Given the description of an element on the screen output the (x, y) to click on. 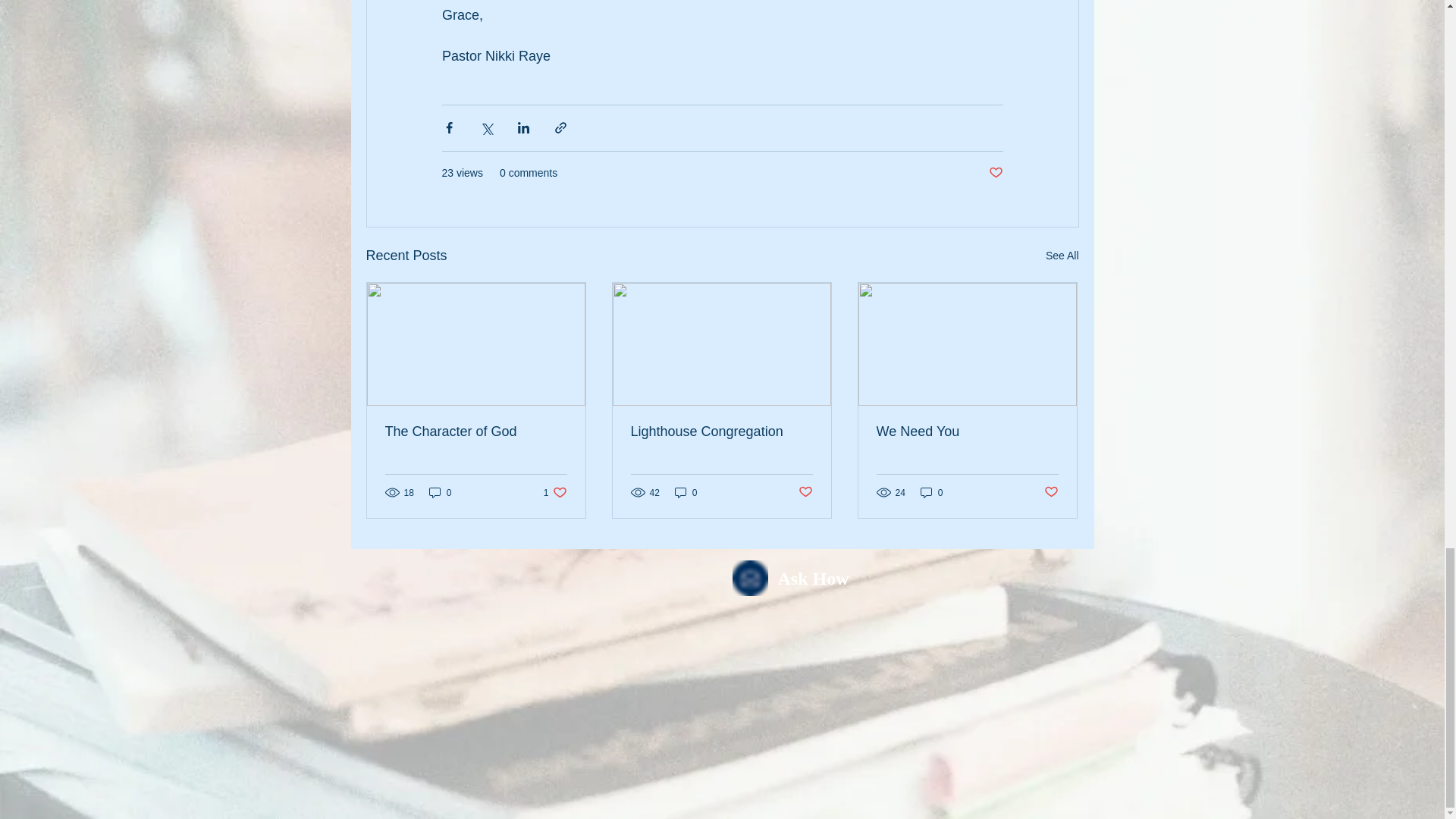
The Character of God (476, 431)
Post not marked as liked (804, 492)
See All (1061, 255)
Post not marked as liked (555, 492)
0 (995, 172)
We Need You (931, 492)
0 (967, 431)
Post not marked as liked (685, 492)
0 (1050, 492)
Lighthouse Congregation (440, 492)
